Given the description of an element on the screen output the (x, y) to click on. 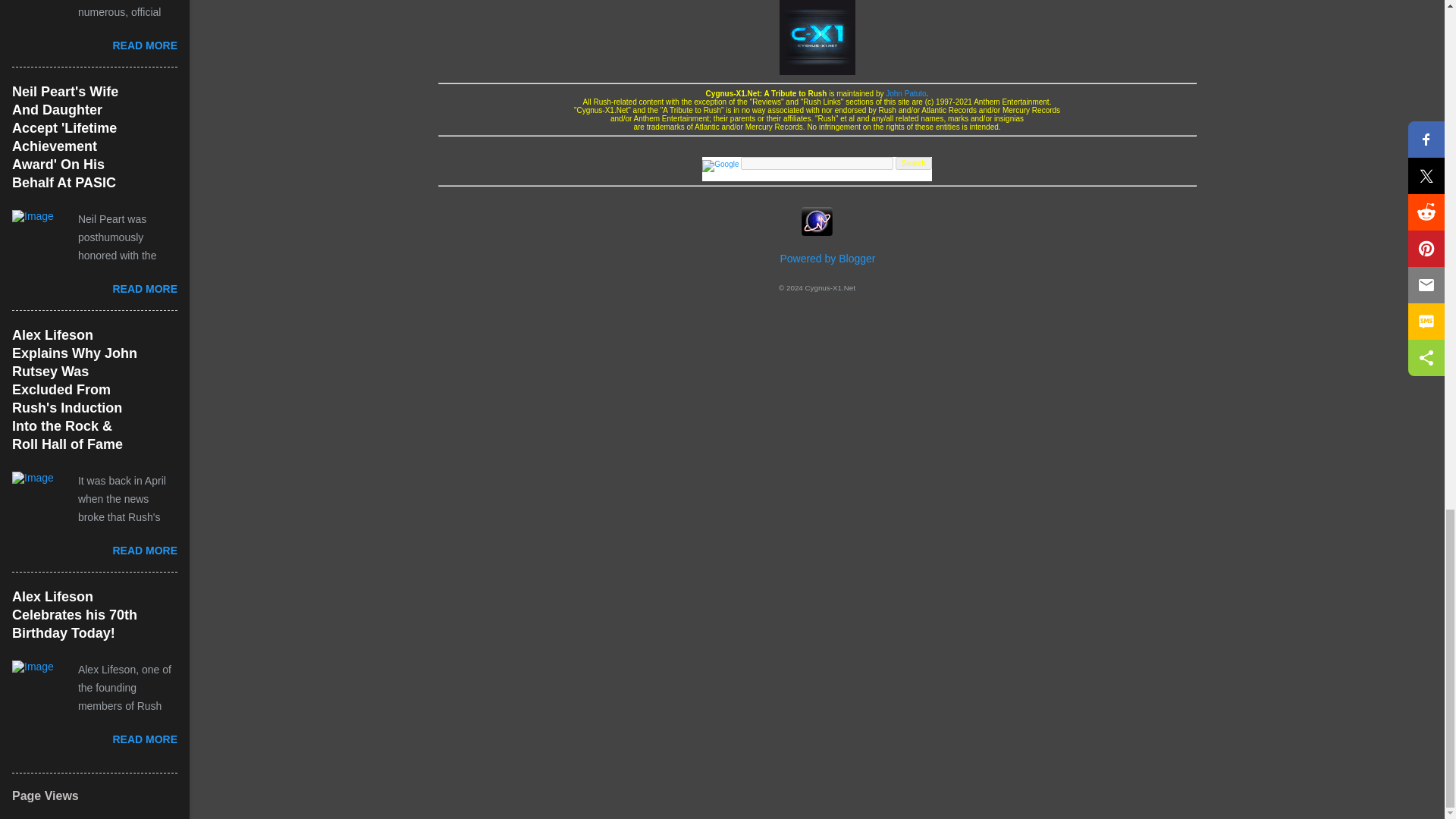
eXTReMe Tracker - Free Website Statistics (817, 233)
Search (913, 163)
